Given the description of an element on the screen output the (x, y) to click on. 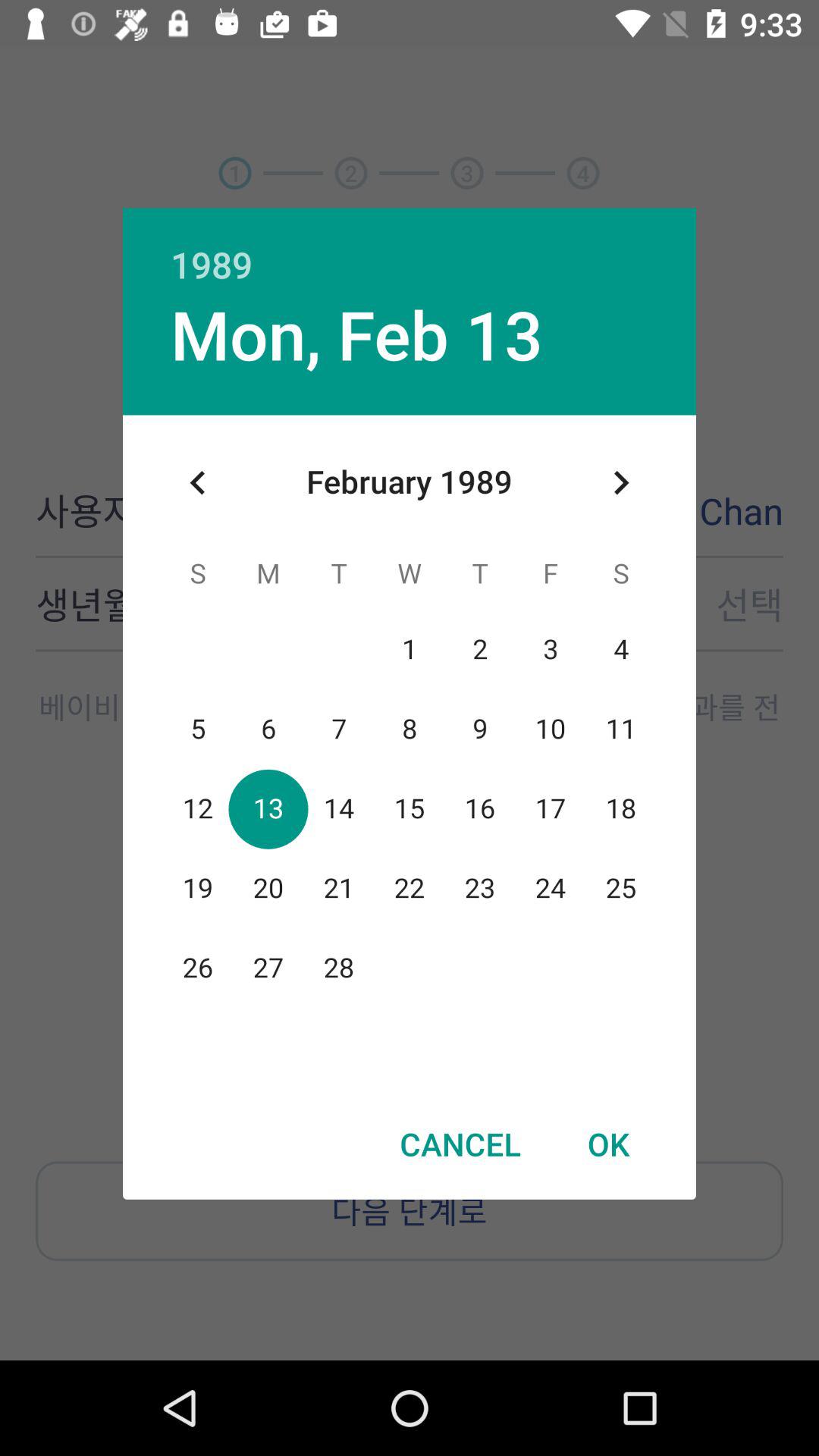
turn off icon at the top right corner (620, 482)
